Given the description of an element on the screen output the (x, y) to click on. 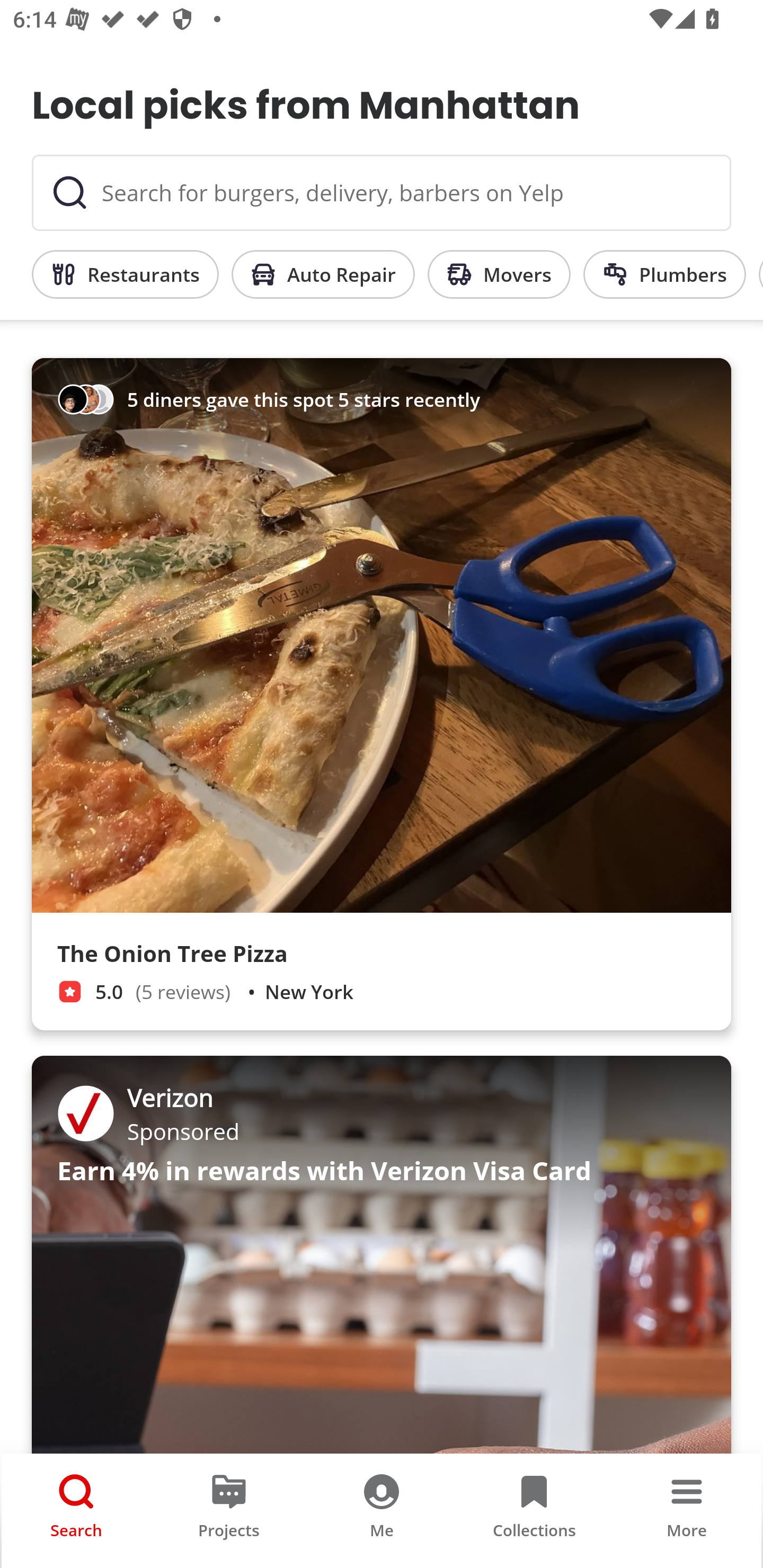
Search for burgers, delivery, barbers on Yelp (381, 192)
